Given the description of an element on the screen output the (x, y) to click on. 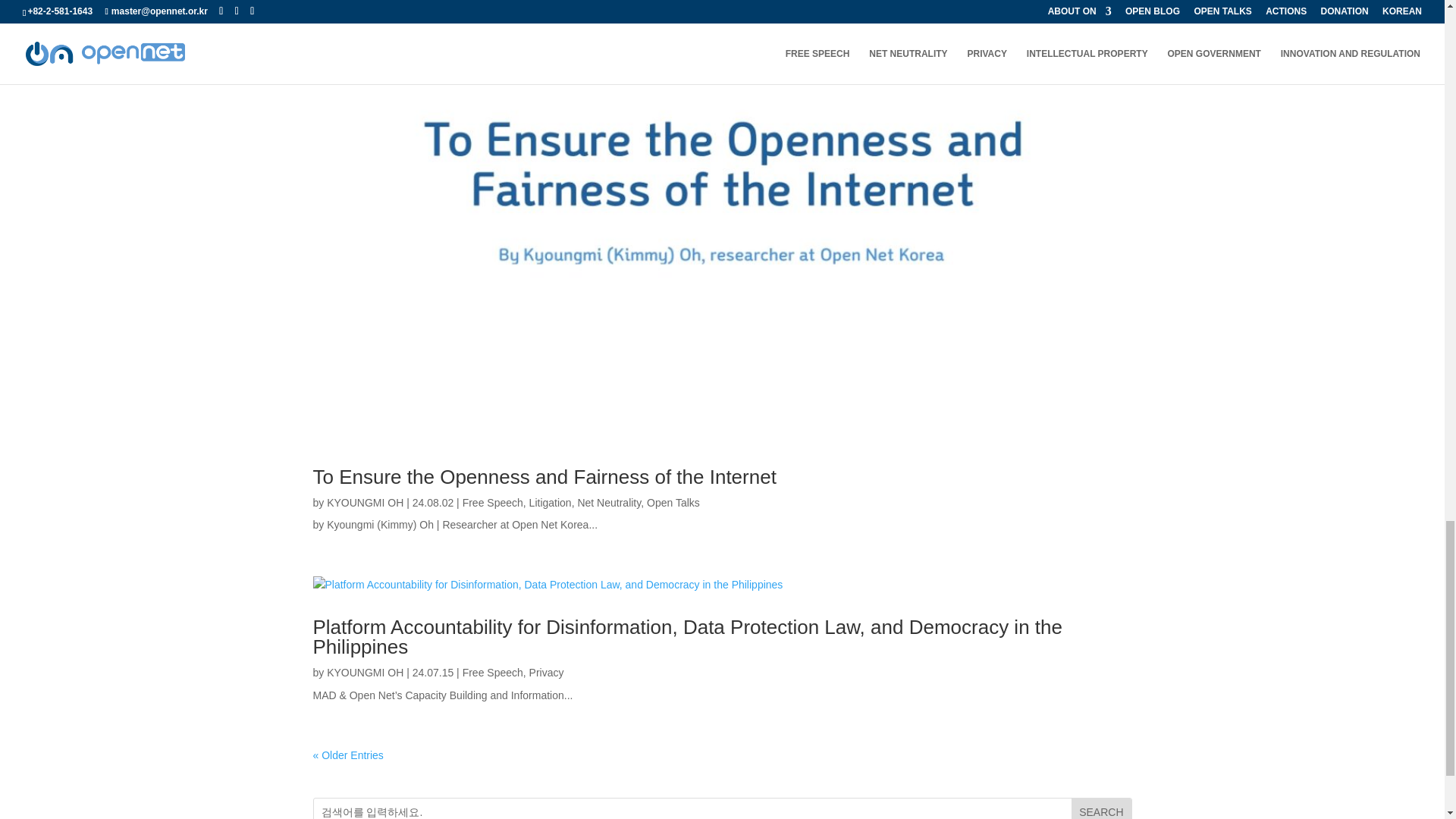
Search (1101, 808)
Posts by KYOUNGMI OH (364, 502)
Posts by KYOUNGMI OH (364, 672)
Search (1101, 808)
